Given the description of an element on the screen output the (x, y) to click on. 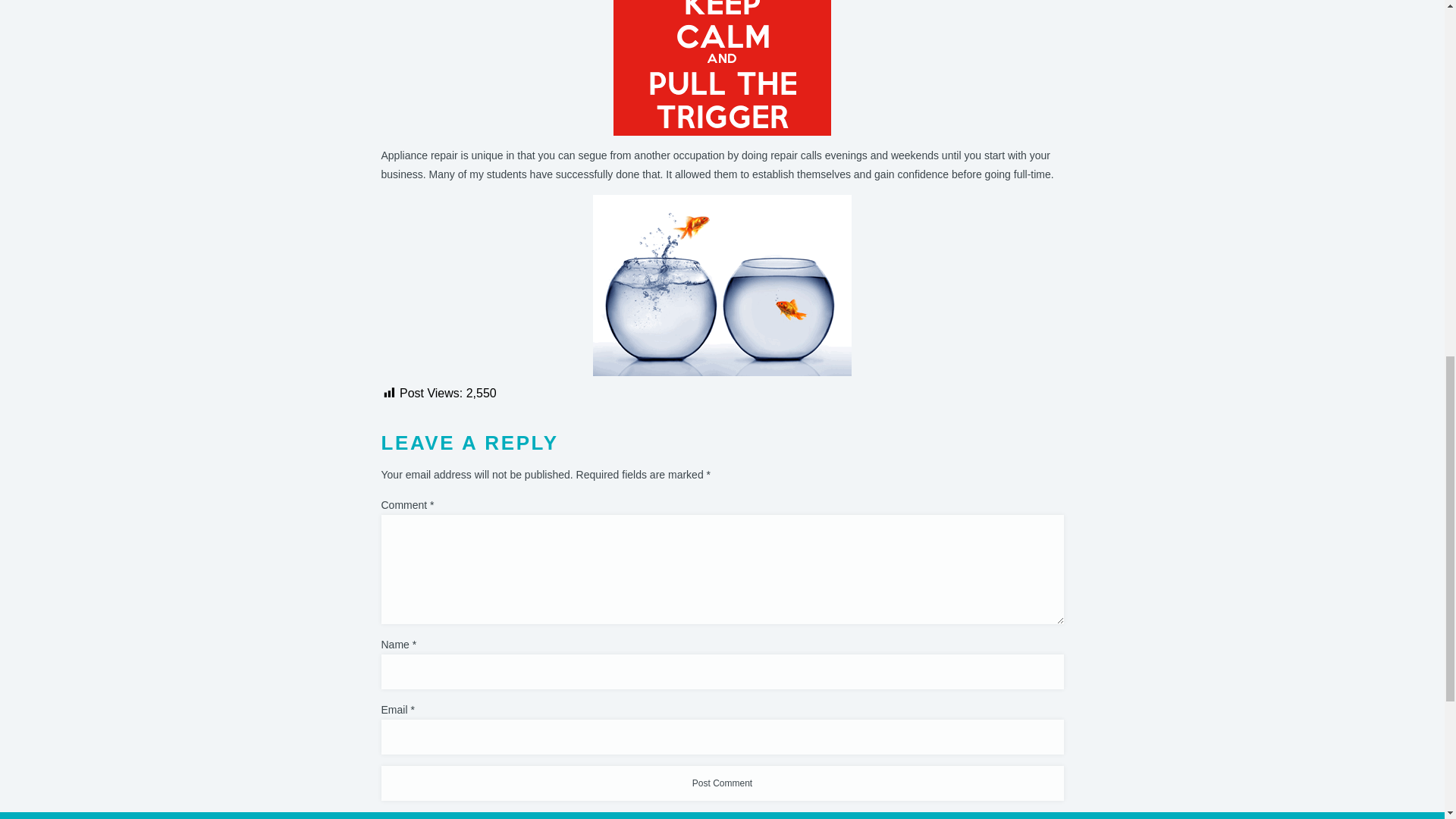
trigger - Uncle Harry's Appliance Repair School (721, 67)
transition - Uncle Harry's Appliance Repair School (721, 284)
Post Comment (721, 782)
Post Comment (721, 782)
